Given the description of an element on the screen output the (x, y) to click on. 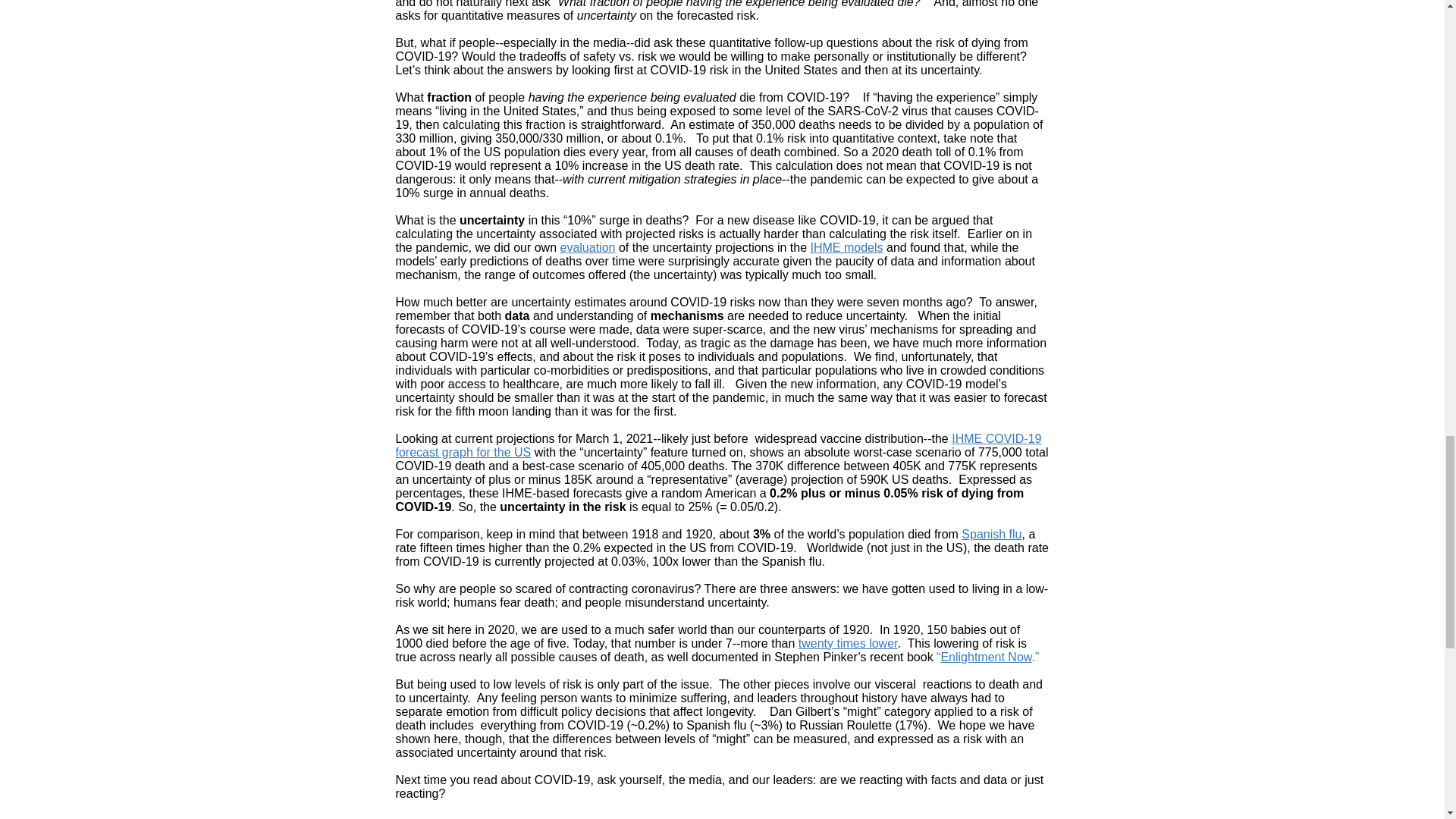
evaluation (587, 246)
IHME COVID-19 forecast graph for the US (719, 445)
Spanish flu (991, 533)
twenty times lower (847, 643)
IHME models (846, 246)
